Given the description of an element on the screen output the (x, y) to click on. 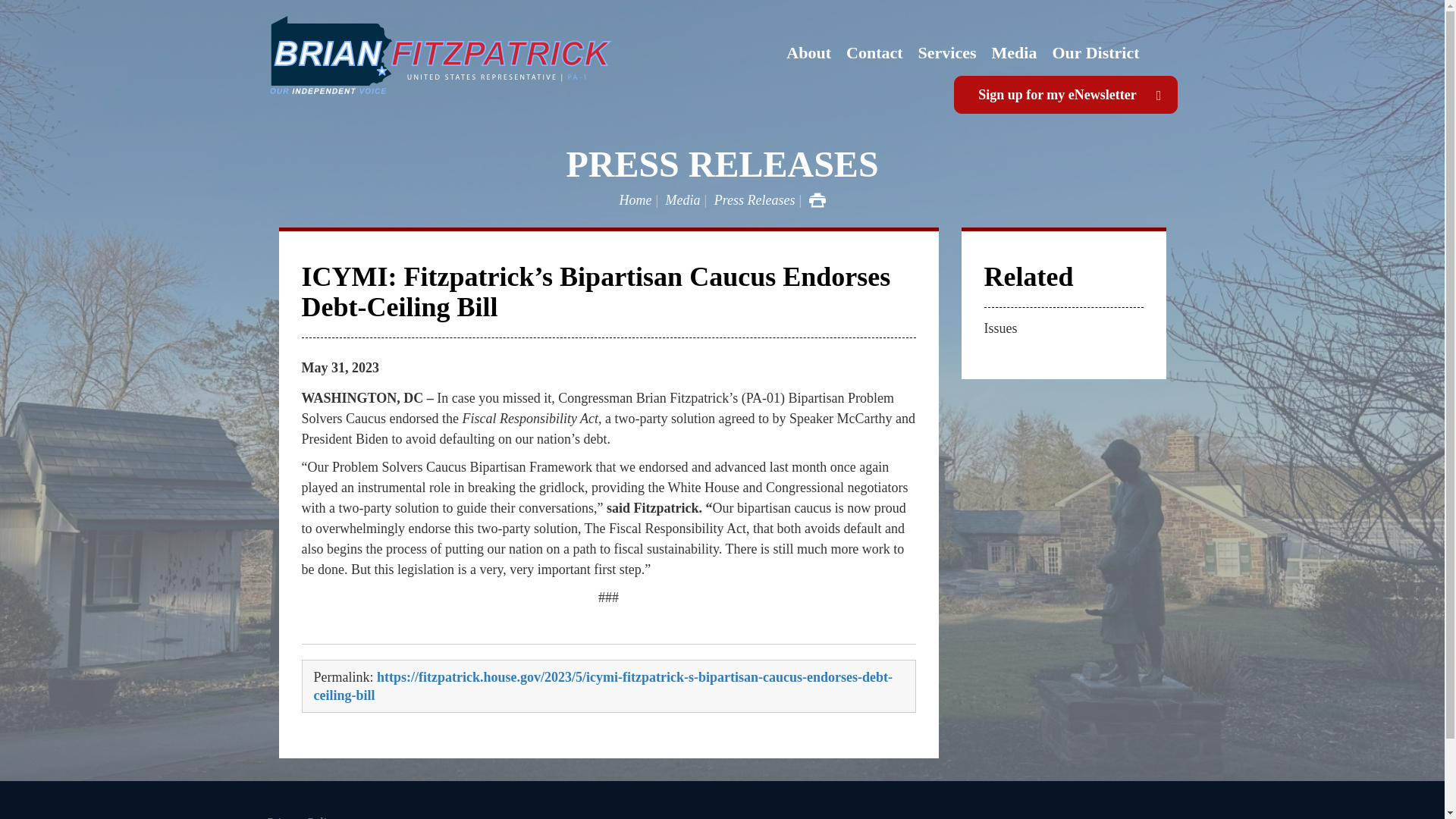
About (808, 53)
Media (1014, 53)
Contact (874, 53)
Print Page (817, 199)
Services (947, 53)
Our District (1095, 53)
